Given the description of an element on the screen output the (x, y) to click on. 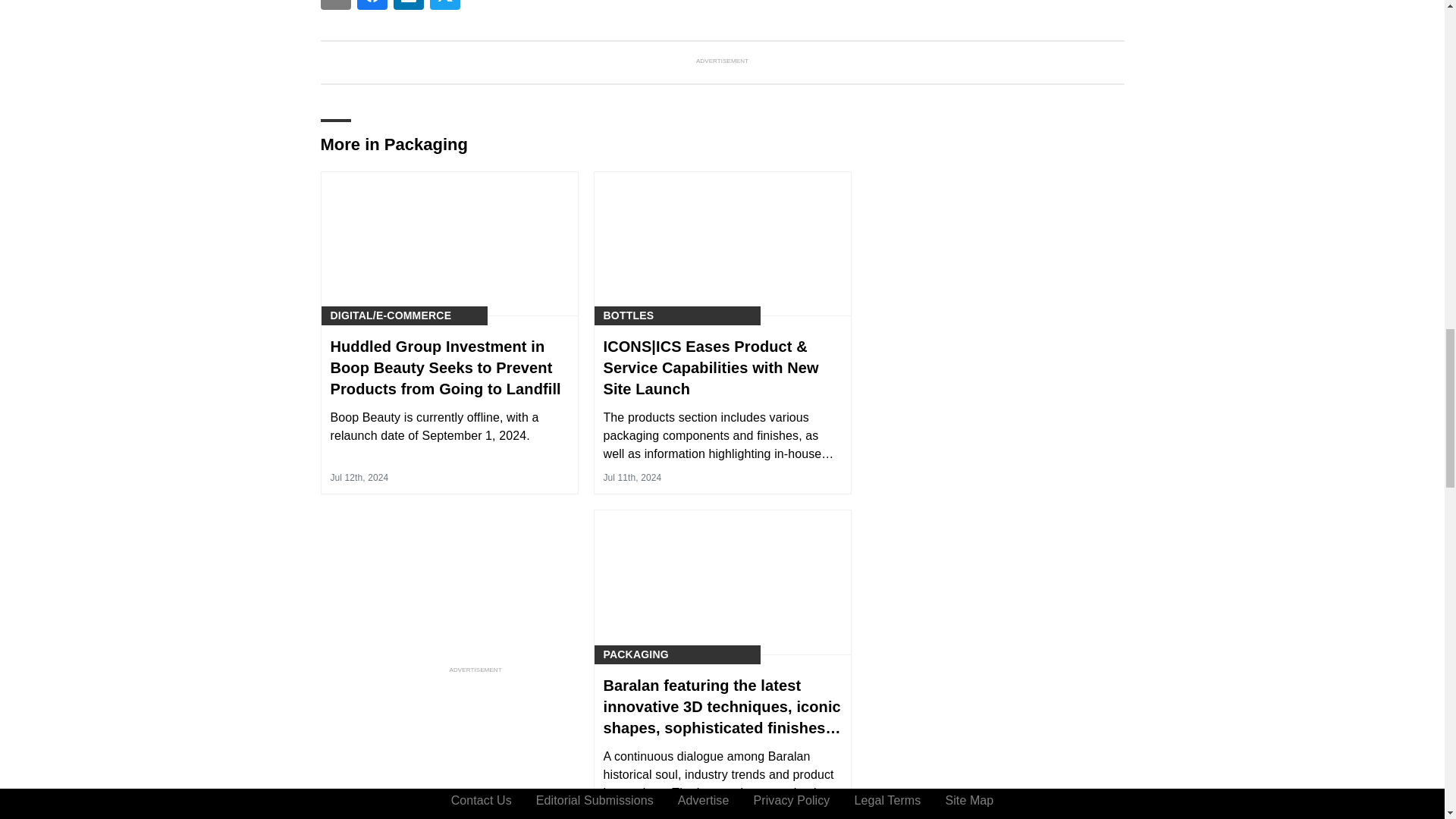
Share To facebook (371, 4)
Share To linkedin (408, 4)
Share To twitter (444, 4)
Share To email (335, 4)
